Given the description of an element on the screen output the (x, y) to click on. 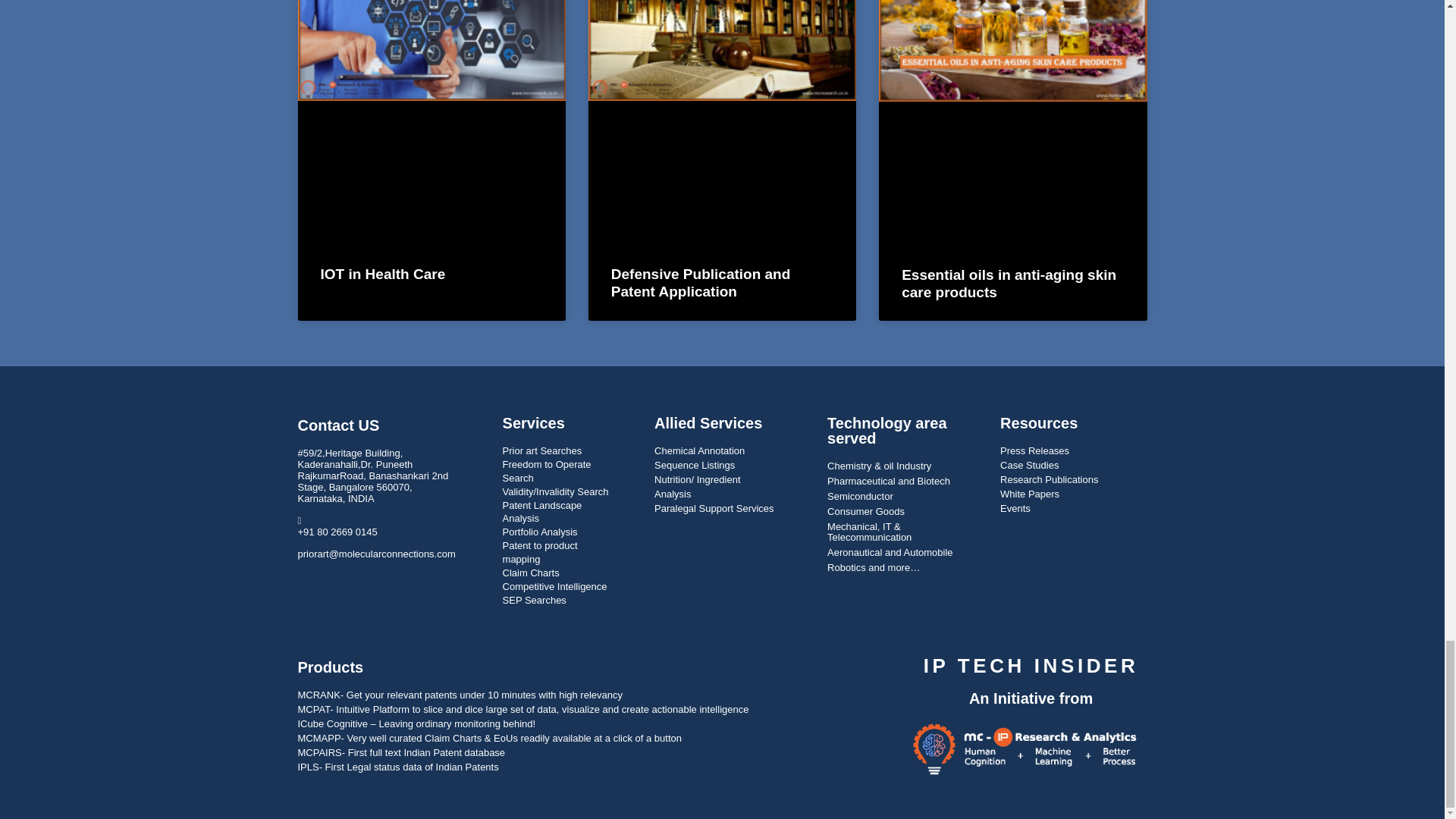
IOT in Health Care (382, 273)
Essential oils in anti-aging skin care products (1008, 283)
Defensive Publication and Patent Application (700, 282)
